Given the description of an element on the screen output the (x, y) to click on. 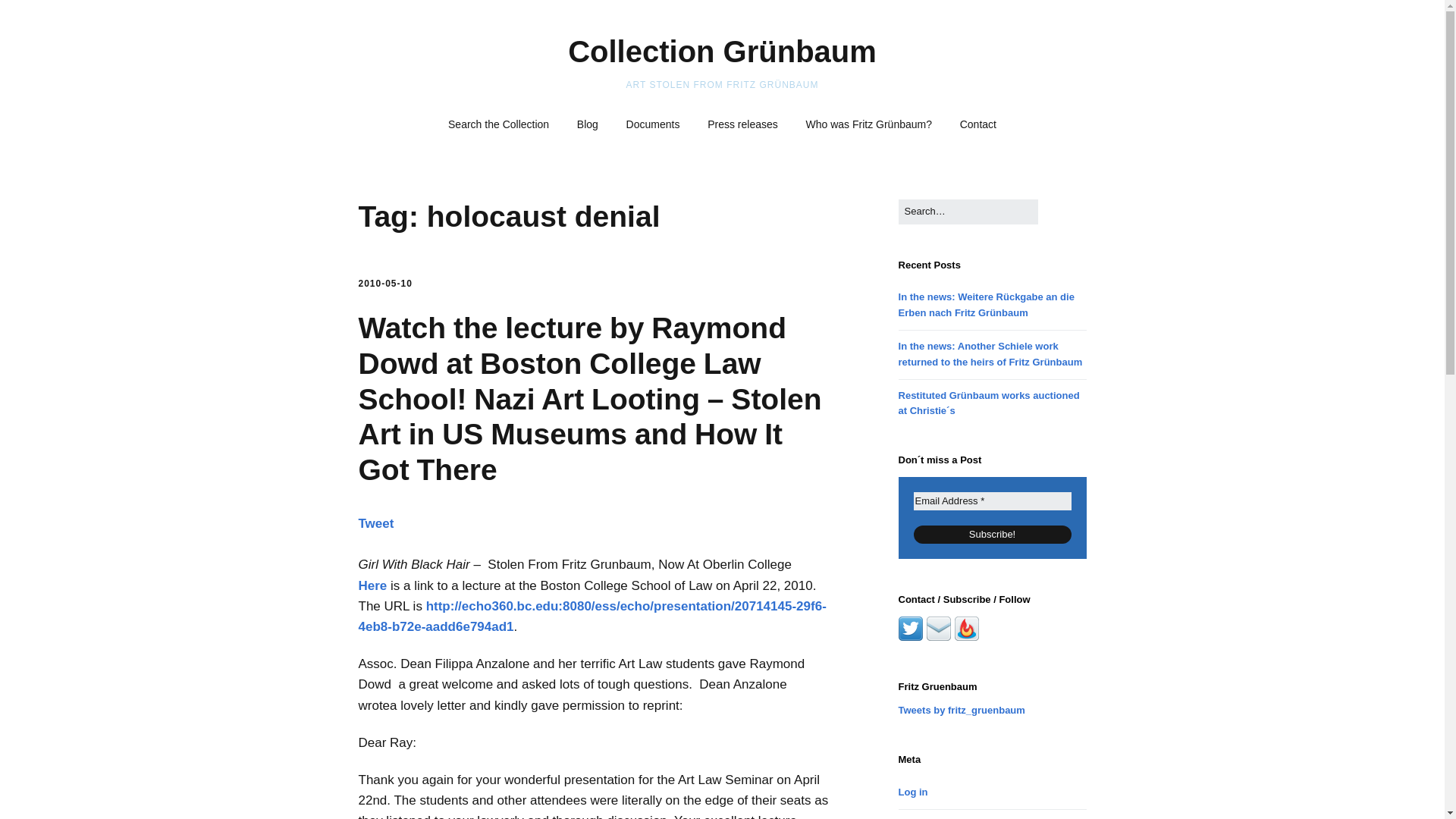
Subscribe to RSS Feed (966, 636)
Here (372, 585)
Subscribe! (992, 534)
Press Enter to submit your search (968, 211)
2010-05-10 (385, 283)
Search the Collection (497, 124)
Email Address (992, 501)
Log in (913, 791)
Tweet (375, 523)
Subscribe! (992, 534)
